Given the description of an element on the screen output the (x, y) to click on. 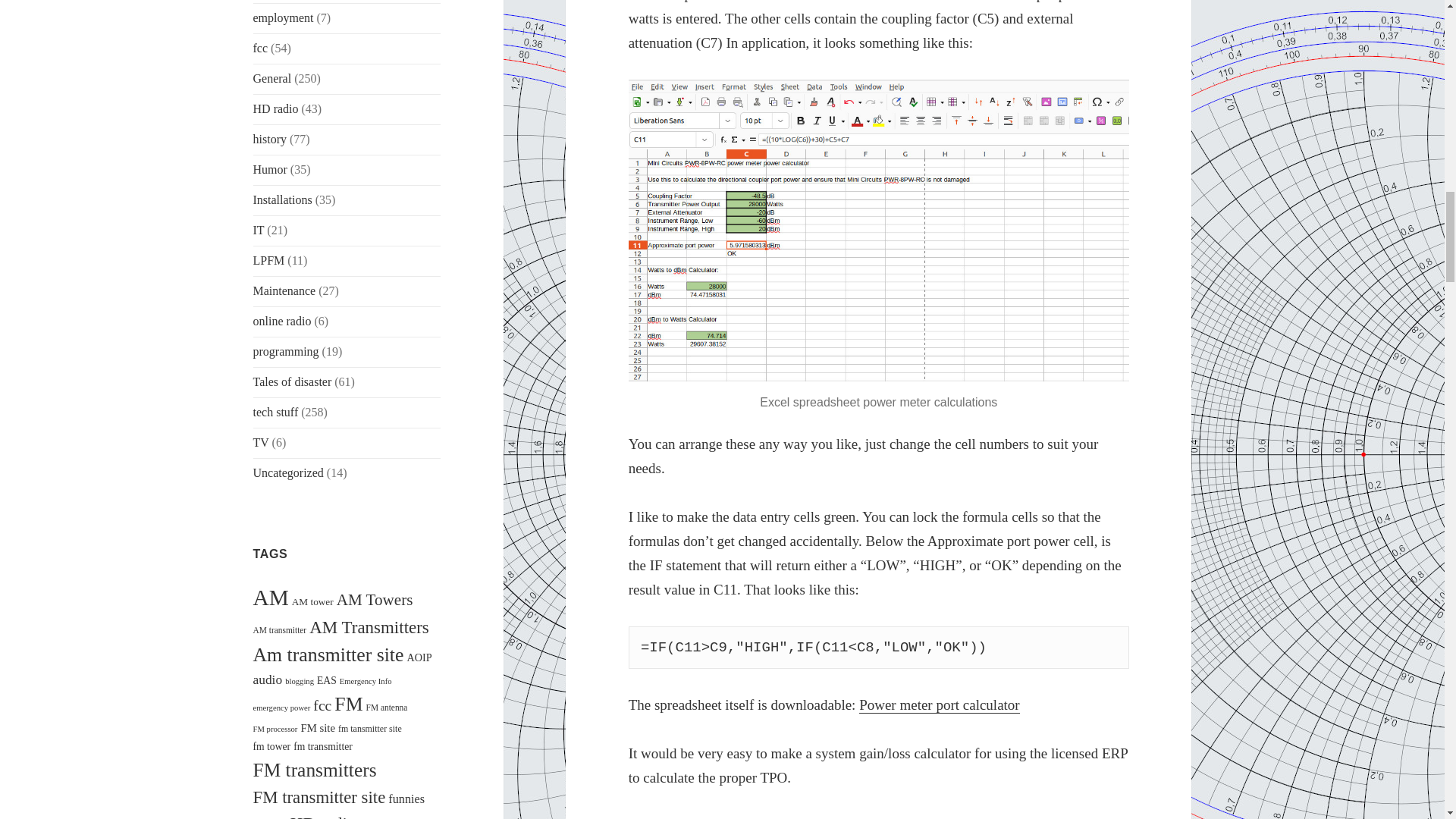
Maintenance (284, 290)
General (272, 78)
employment (283, 17)
HD radio (275, 108)
LPFM (269, 259)
Humor (269, 169)
history (269, 138)
Installations (283, 199)
fcc (260, 47)
